Given the description of an element on the screen output the (x, y) to click on. 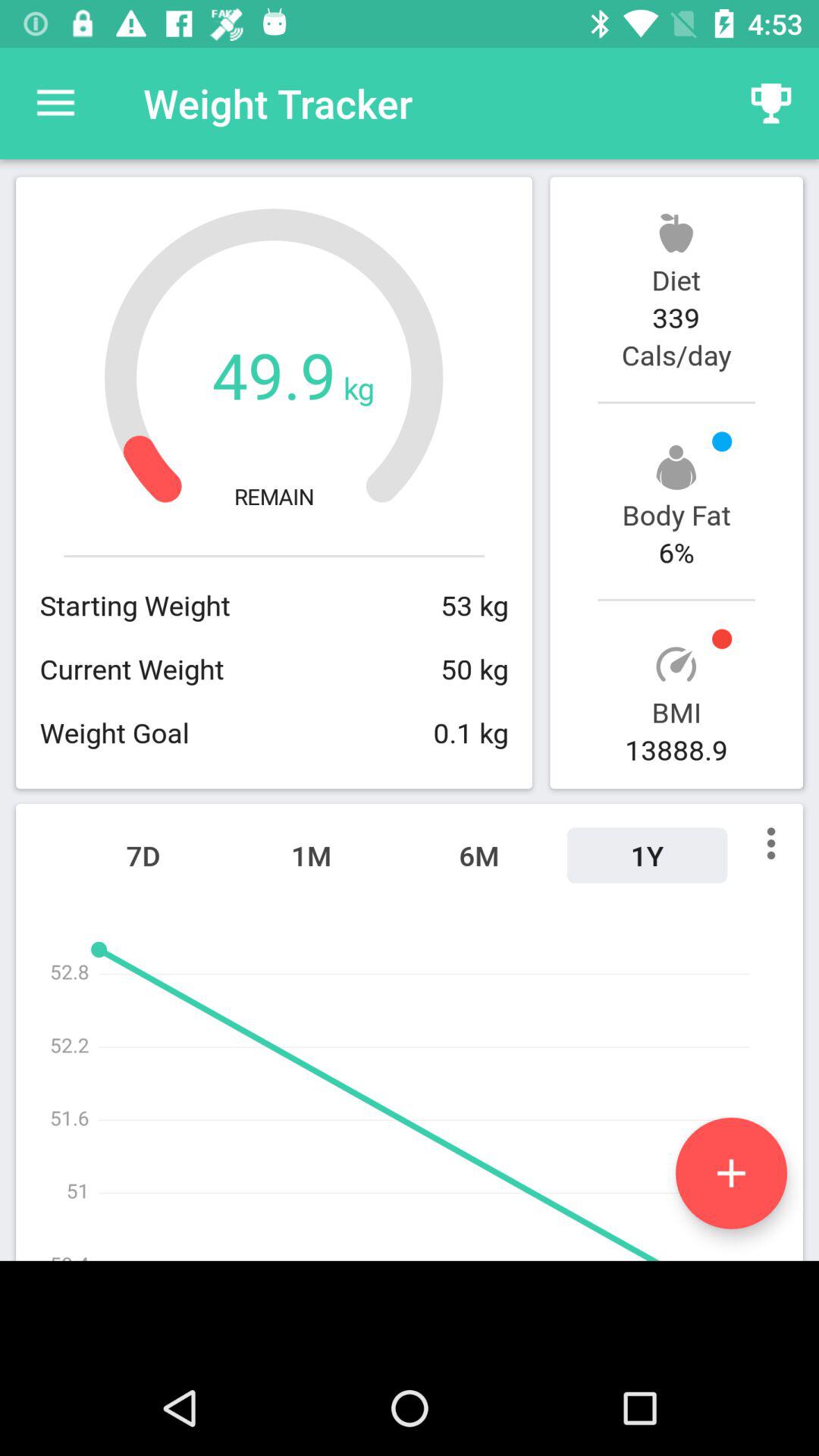
click the icon at the bottom right corner (731, 1173)
